Given the description of an element on the screen output the (x, y) to click on. 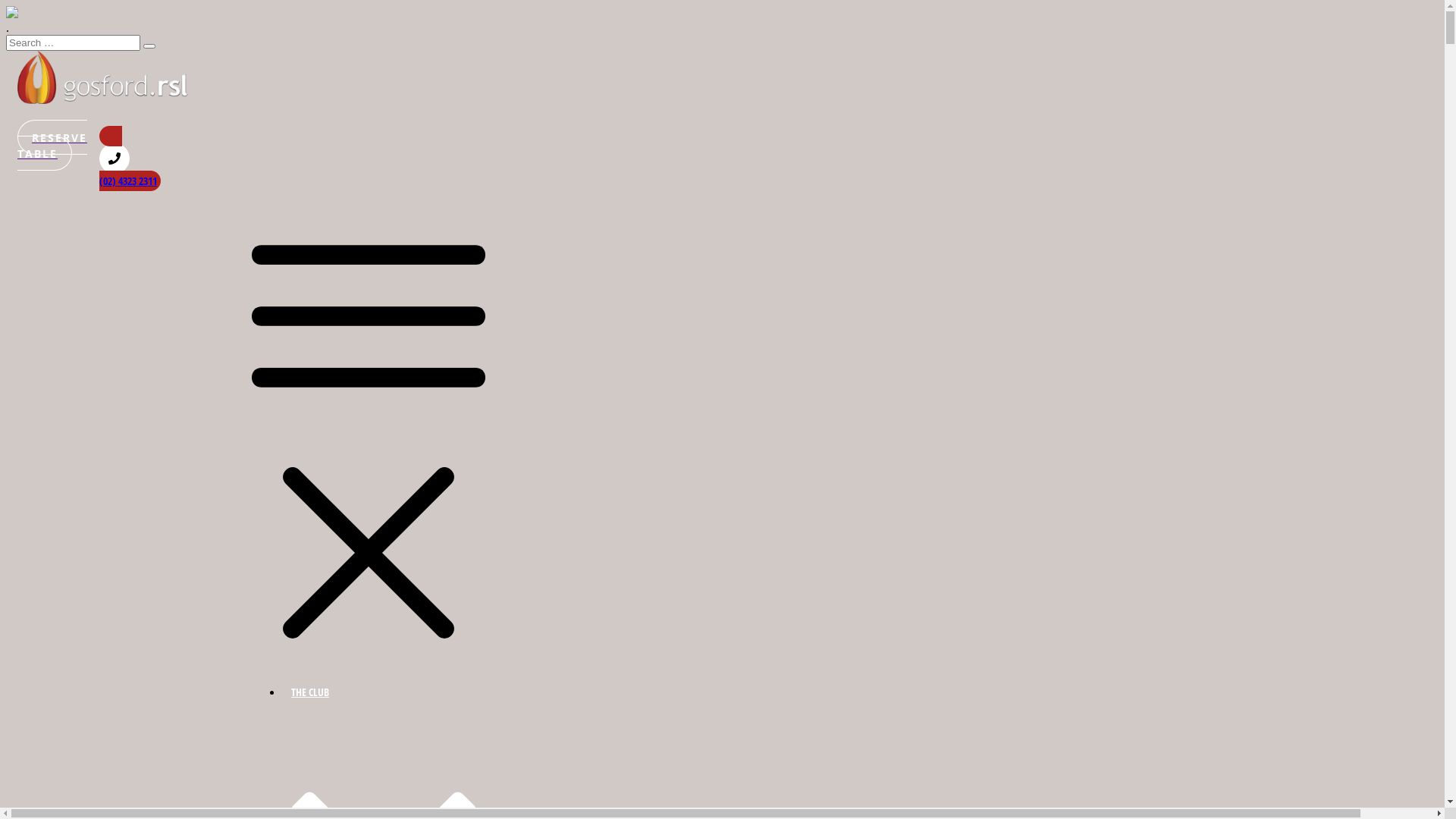
RESERVE TABLE Element type: text (52, 144)
(02) 4323 2311 Element type: text (194, 158)
Logo Element type: hover (102, 76)
Search for: Element type: hover (73, 42)
